Given the description of an element on the screen output the (x, y) to click on. 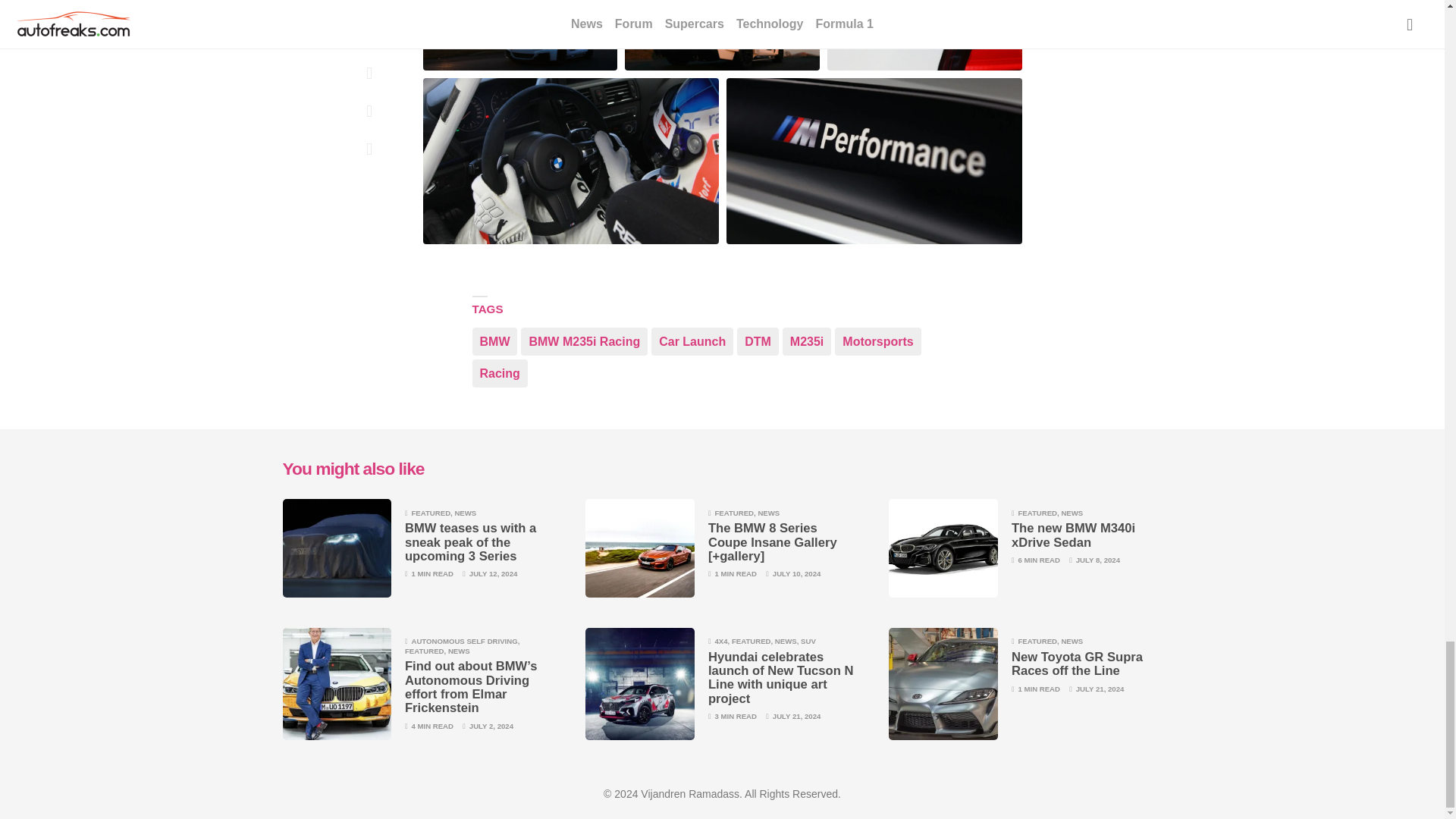
Car Launch (691, 341)
BMW (493, 341)
BMW M235i Racing (584, 341)
DTM (757, 341)
